Given the description of an element on the screen output the (x, y) to click on. 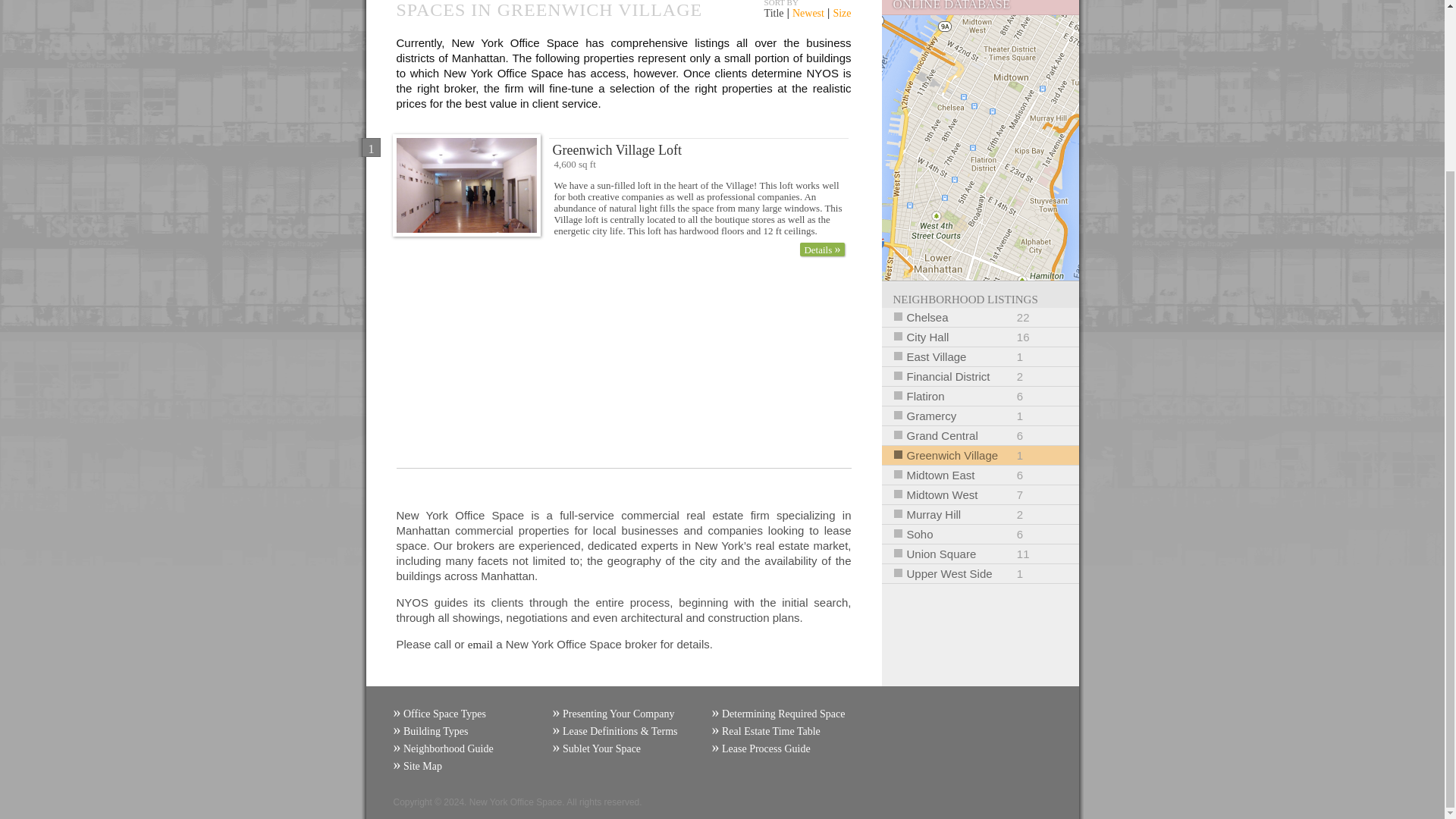
Sort by Title (979, 356)
Sort by Newest (979, 336)
Title (774, 12)
Sort by Size (979, 375)
Newest (808, 12)
Greenwich Village Loft (774, 12)
Size (841, 12)
